Given the description of an element on the screen output the (x, y) to click on. 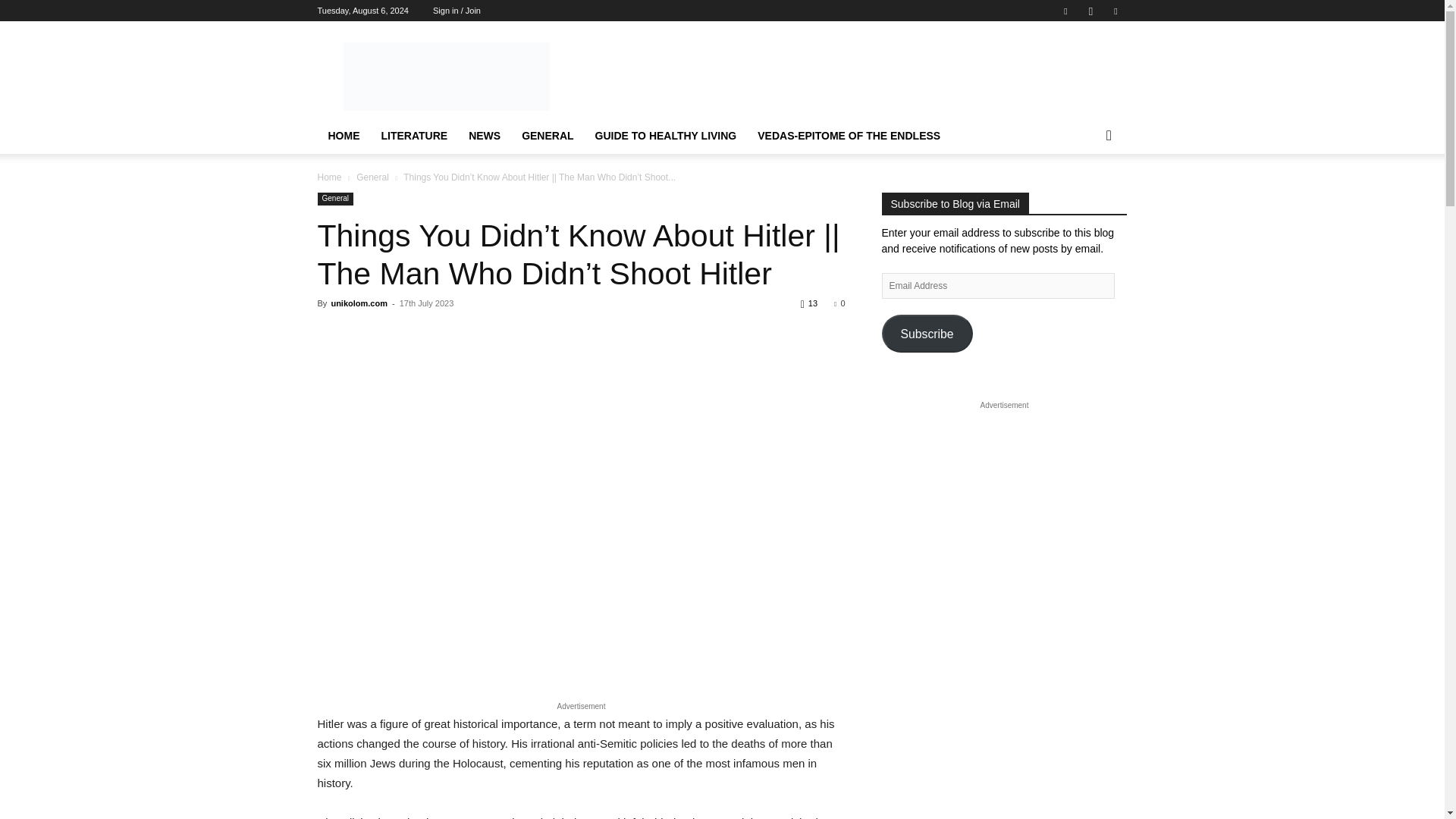
Facebook (1065, 10)
Mail (1114, 10)
Instagram (1090, 10)
pen down your thoughts (445, 76)
